Given the description of an element on the screen output the (x, y) to click on. 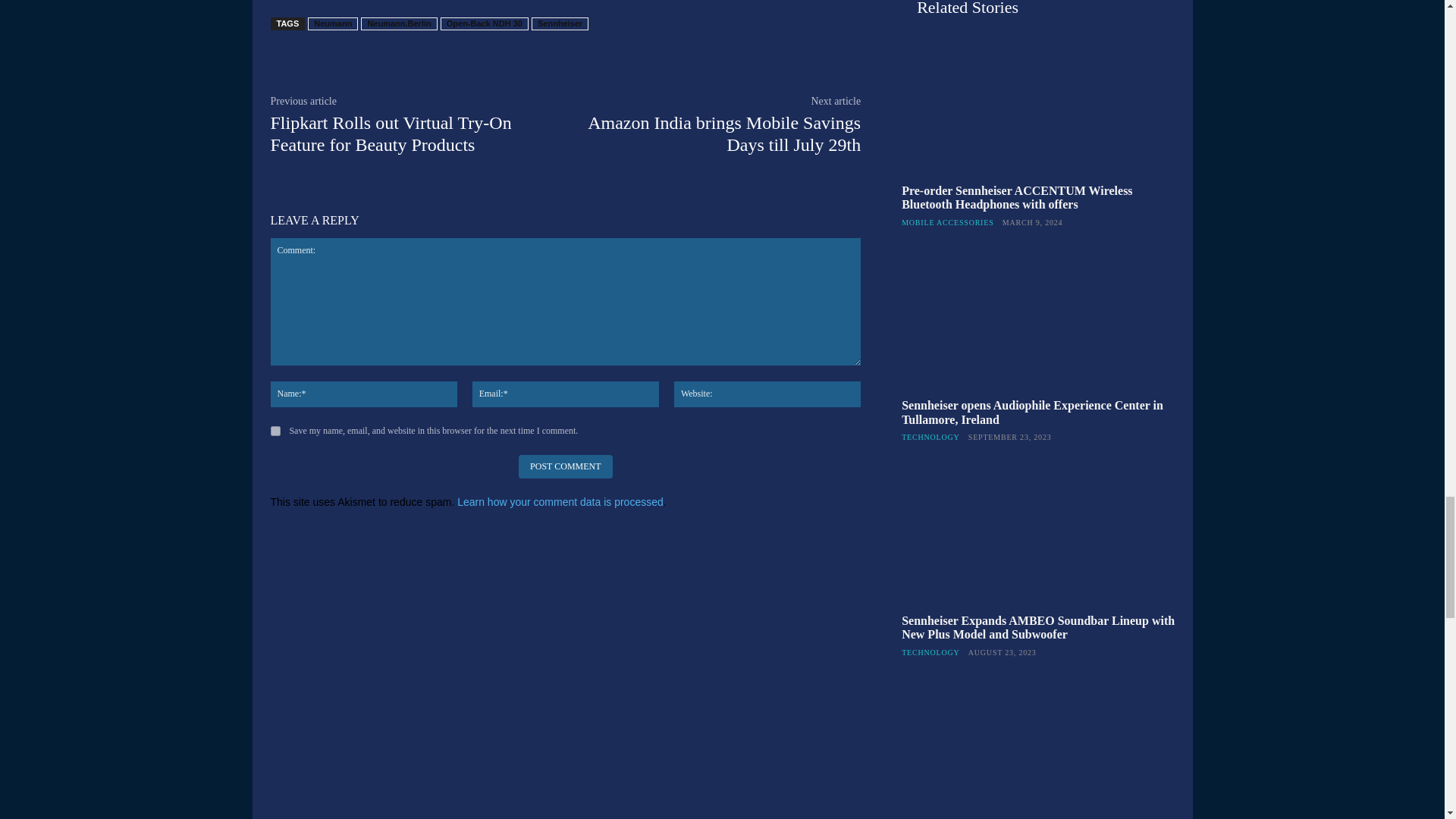
Post Comment (564, 466)
yes (274, 430)
